Given the description of an element on the screen output the (x, y) to click on. 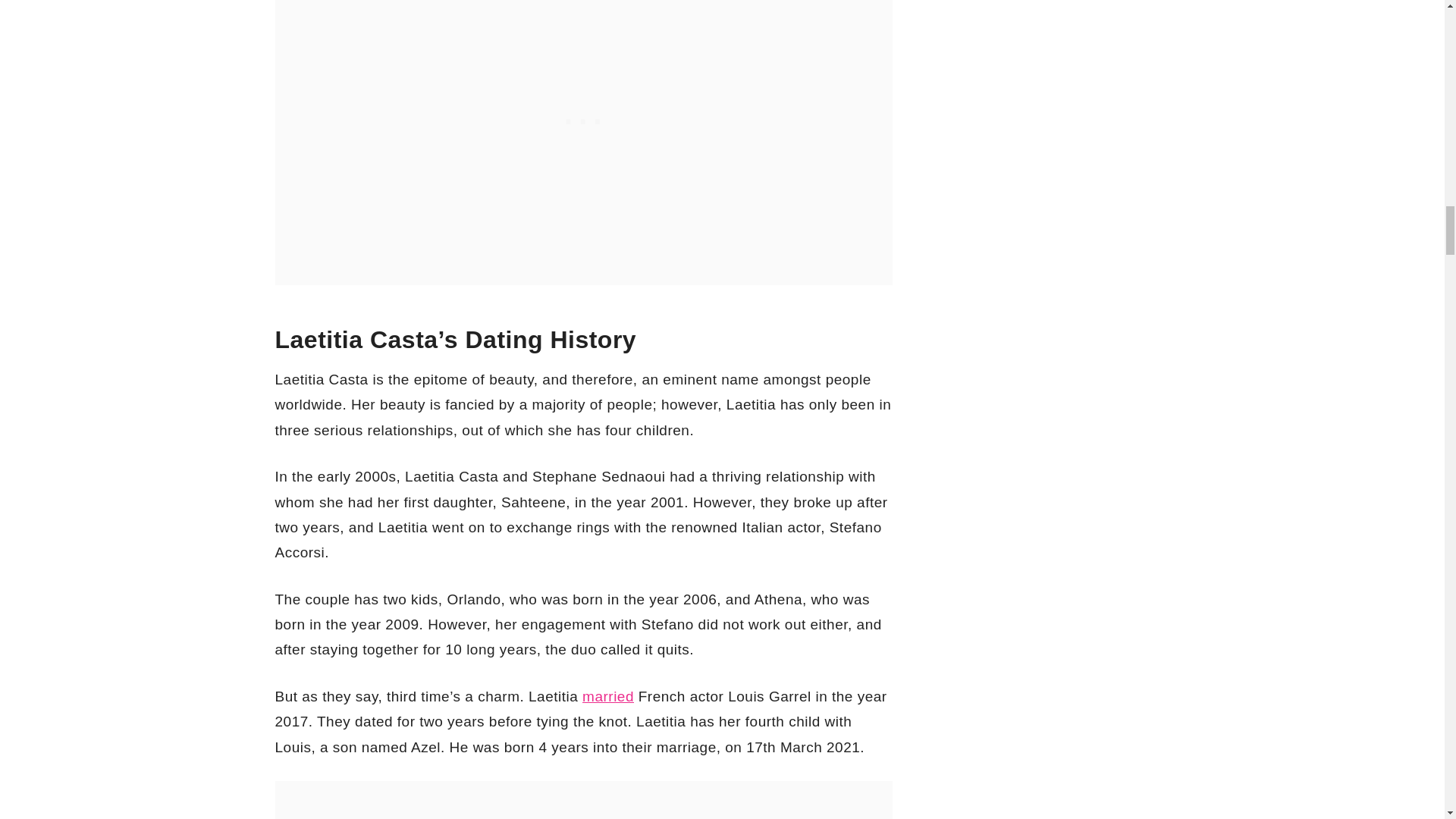
married (607, 696)
